Given the description of an element on the screen output the (x, y) to click on. 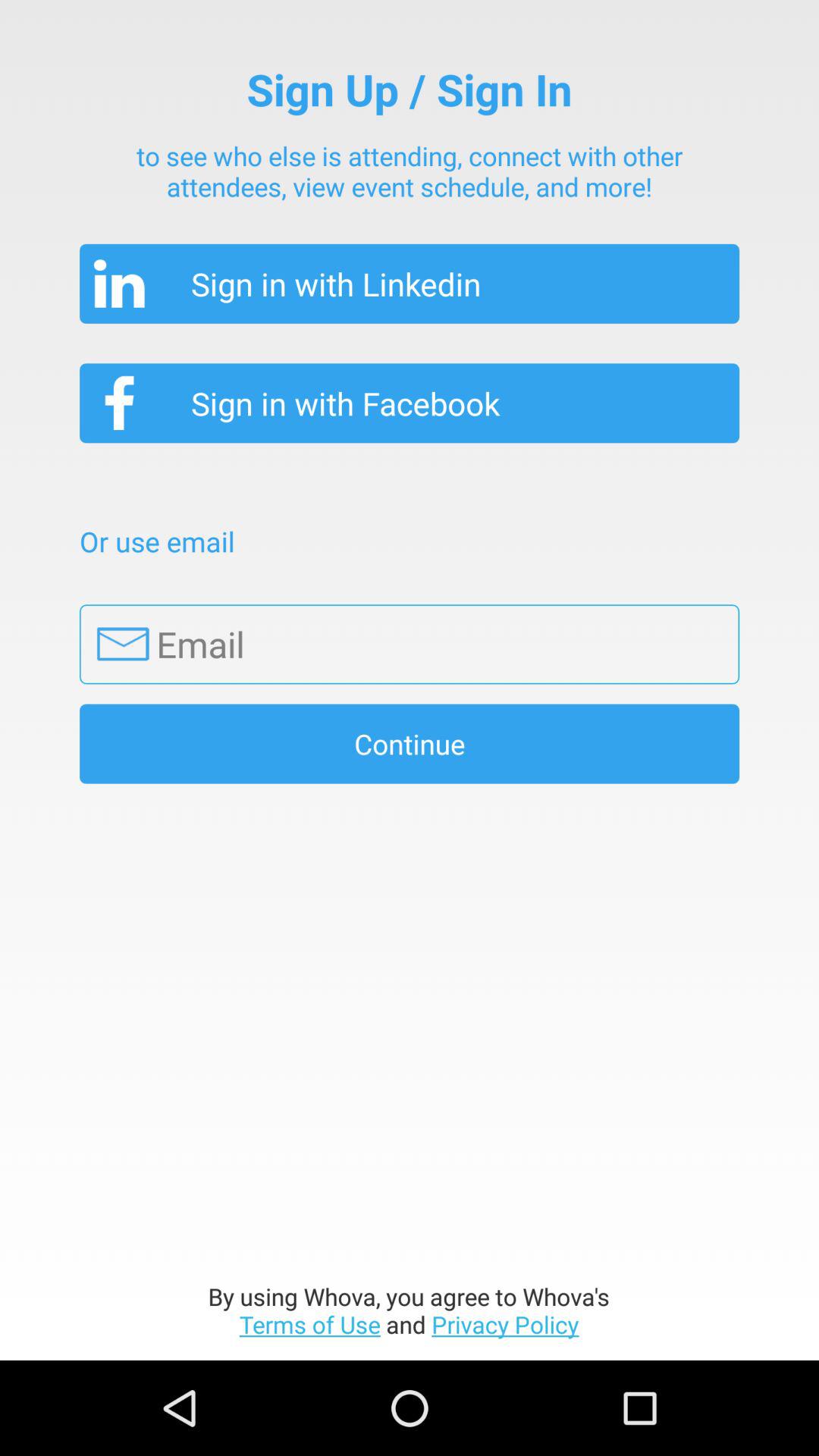
click continue (409, 743)
